Given the description of an element on the screen output the (x, y) to click on. 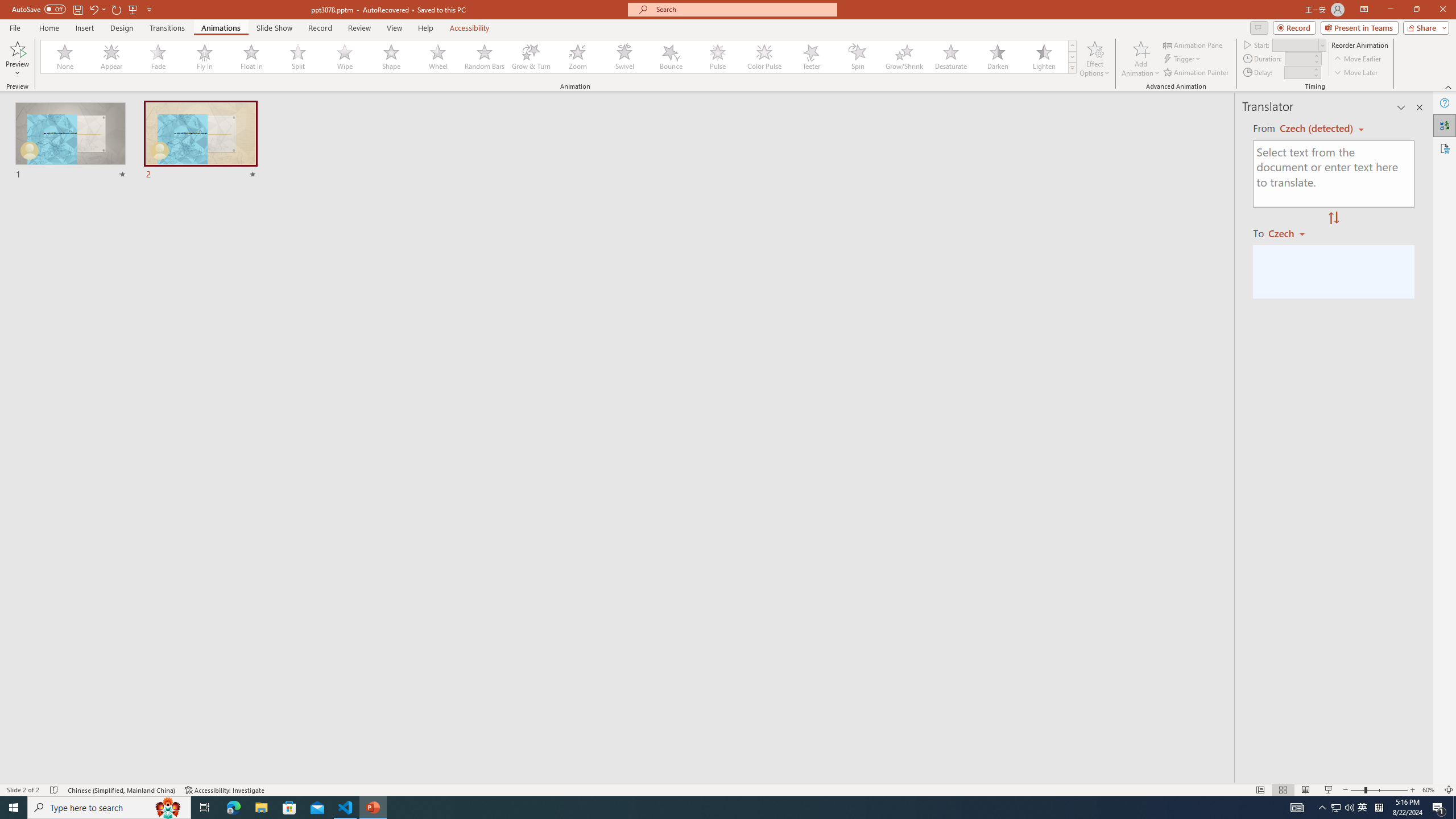
Timeline Section (188, 635)
Copilot (Ctrl+Shift+.) (1434, 46)
Transformer Circuits Thread (713, 78)
Earth - Wikipedia (23, 448)
Problems (Ctrl+Shift+M) (323, 533)
